Given the description of an element on the screen output the (x, y) to click on. 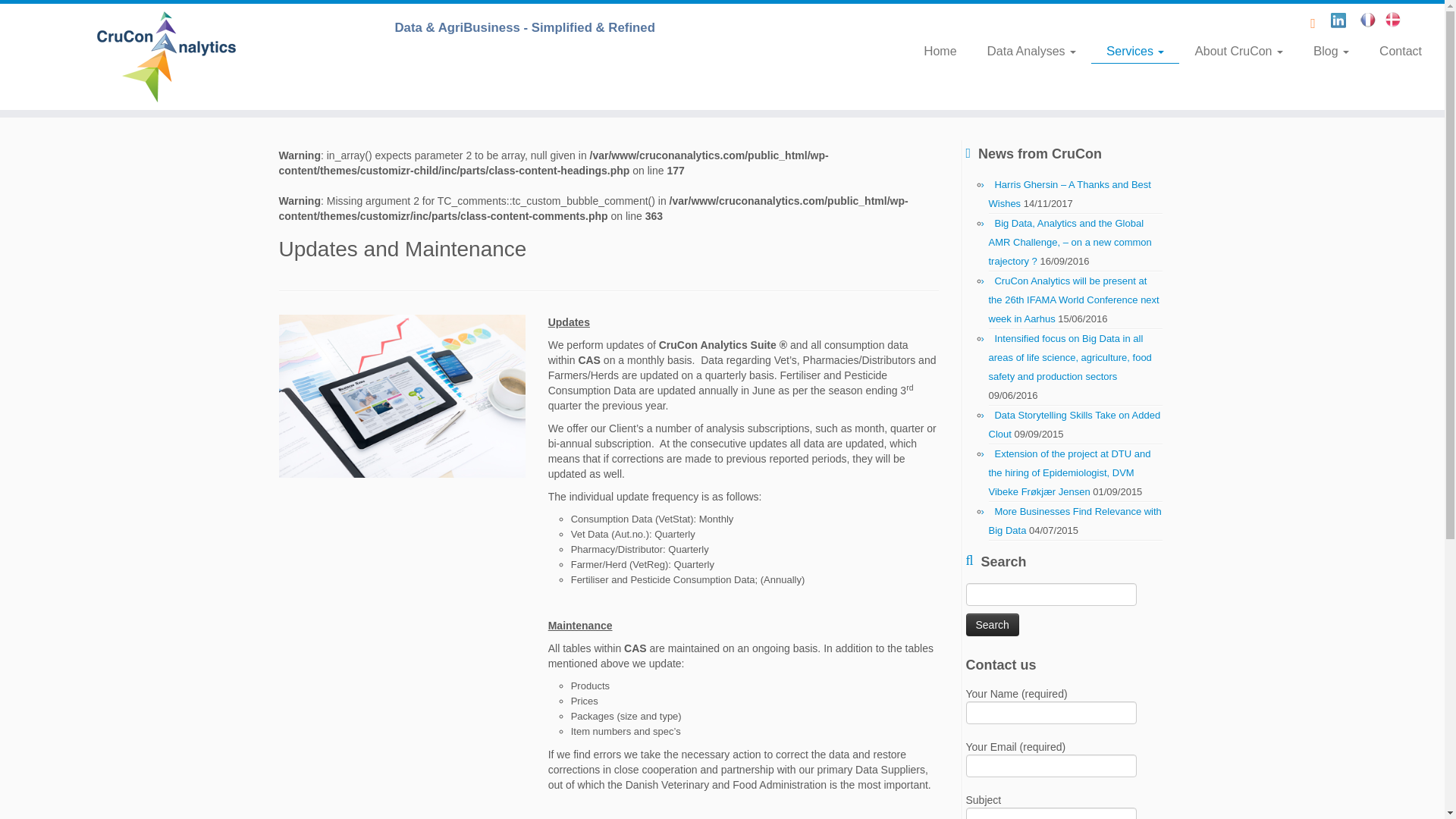
Le site francois (1372, 22)
Home (939, 51)
Subscribe rss feed (1317, 23)
More Businesses Find Relevance with Big Data (1074, 521)
About CruCon (1238, 51)
Search (992, 624)
Follow on LinkedIn (1341, 23)
Data Storytelling Skills Take on Added Clout (1074, 424)
Data Analyses (1031, 51)
Search (992, 624)
Contact (1393, 51)
Services (1134, 51)
Blog (1331, 51)
